Given the description of an element on the screen output the (x, y) to click on. 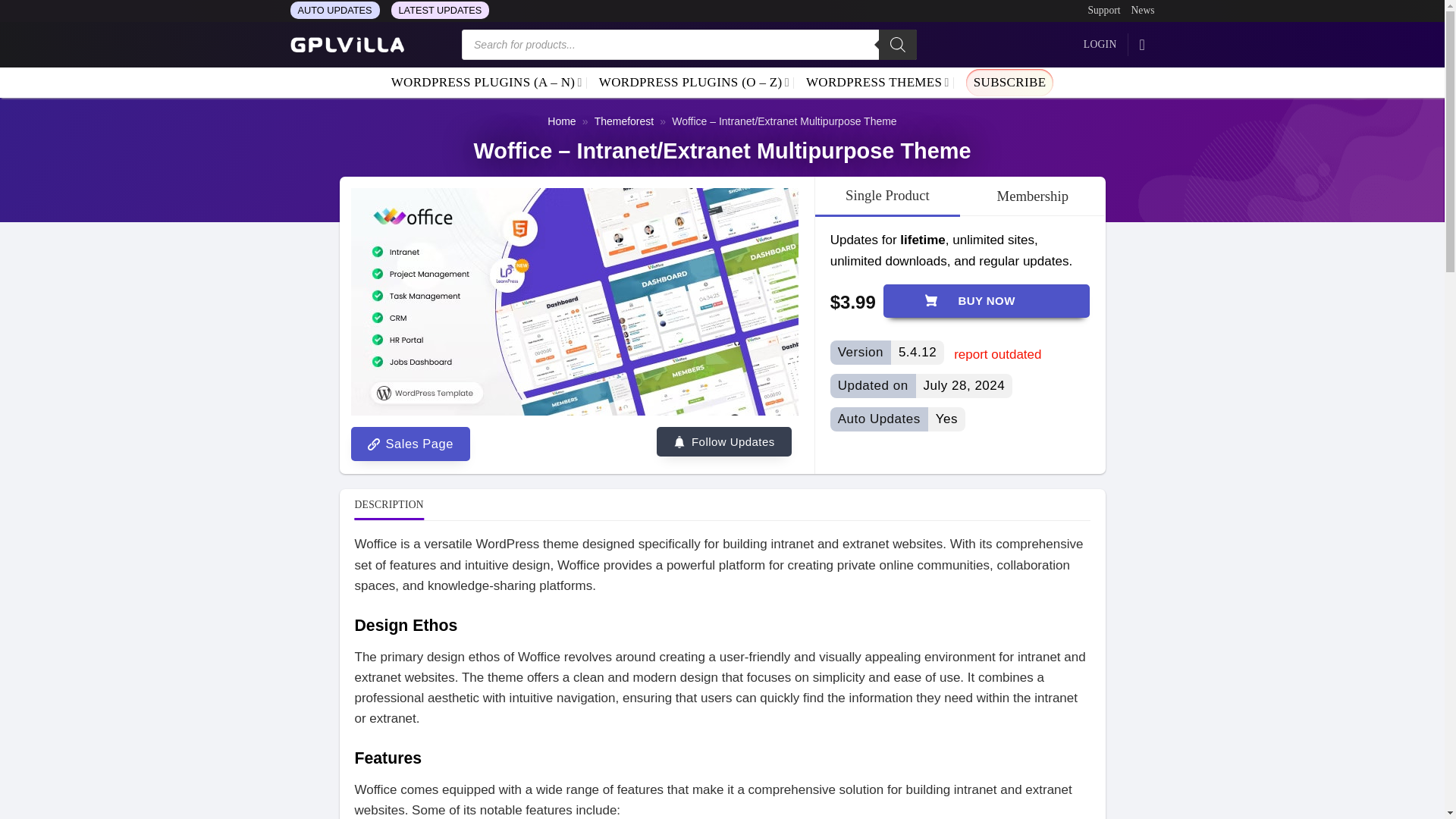
Login (1099, 44)
News (1142, 10)
LOGIN (1099, 44)
Support (1103, 10)
LATEST UPDATES (440, 9)
AUTO UPDATES (333, 9)
GPLVilla - Download GPL WordPress Plugins and Themes (346, 44)
